Given the description of an element on the screen output the (x, y) to click on. 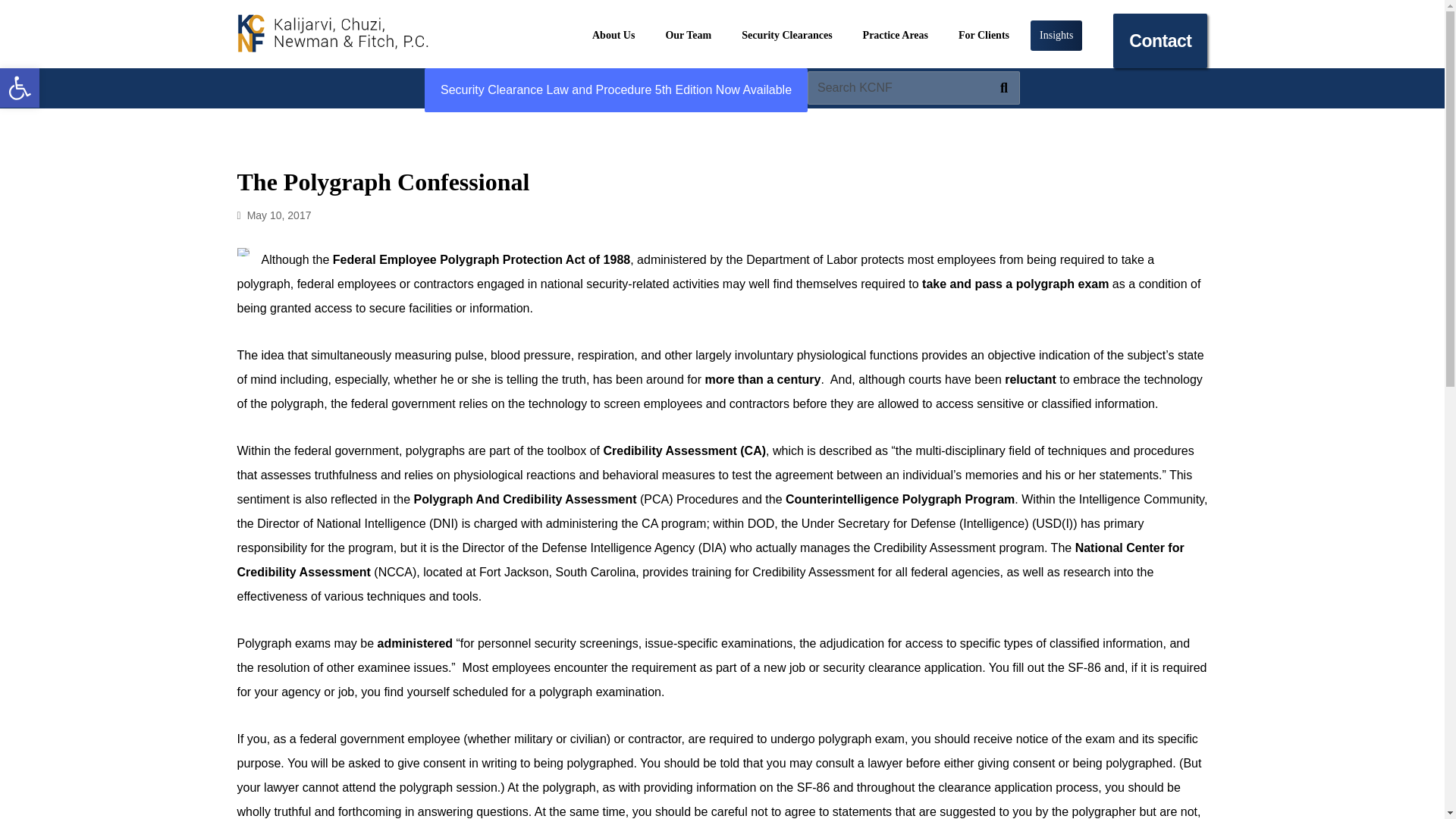
For Clients (983, 35)
Accessibility Tools (19, 87)
Accessibility Tools (19, 87)
Contact (19, 87)
Security Clearances (1160, 40)
About Us (786, 35)
Practice Areas (613, 35)
Our Team (895, 35)
Insights (688, 35)
